Given the description of an element on the screen output the (x, y) to click on. 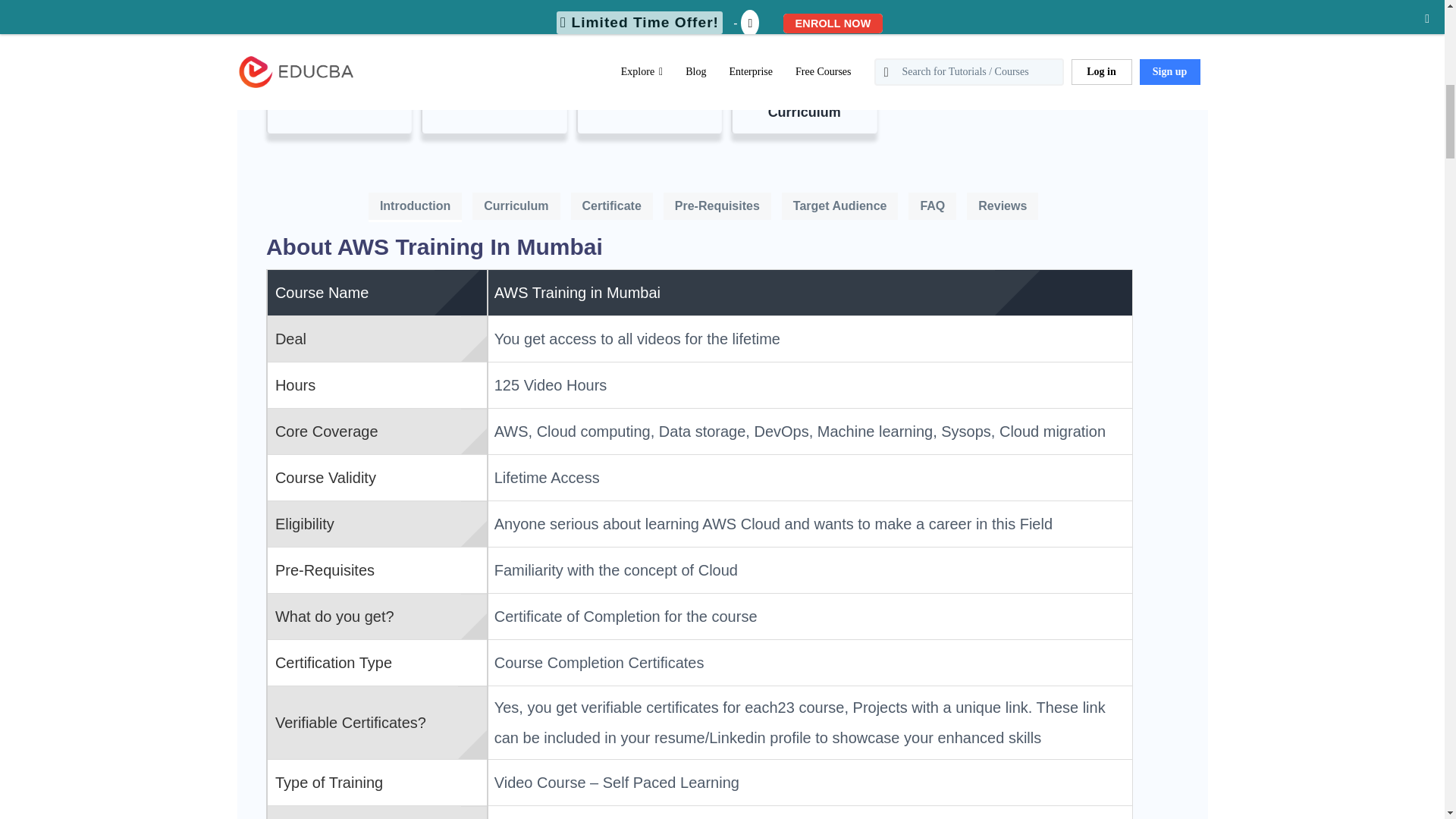
Curriculum (515, 206)
Certificate (611, 204)
Introduction (414, 206)
Certificate (611, 206)
Curriculum (515, 204)
Introduction (415, 204)
Download Curriculum (804, 104)
